Given the description of an element on the screen output the (x, y) to click on. 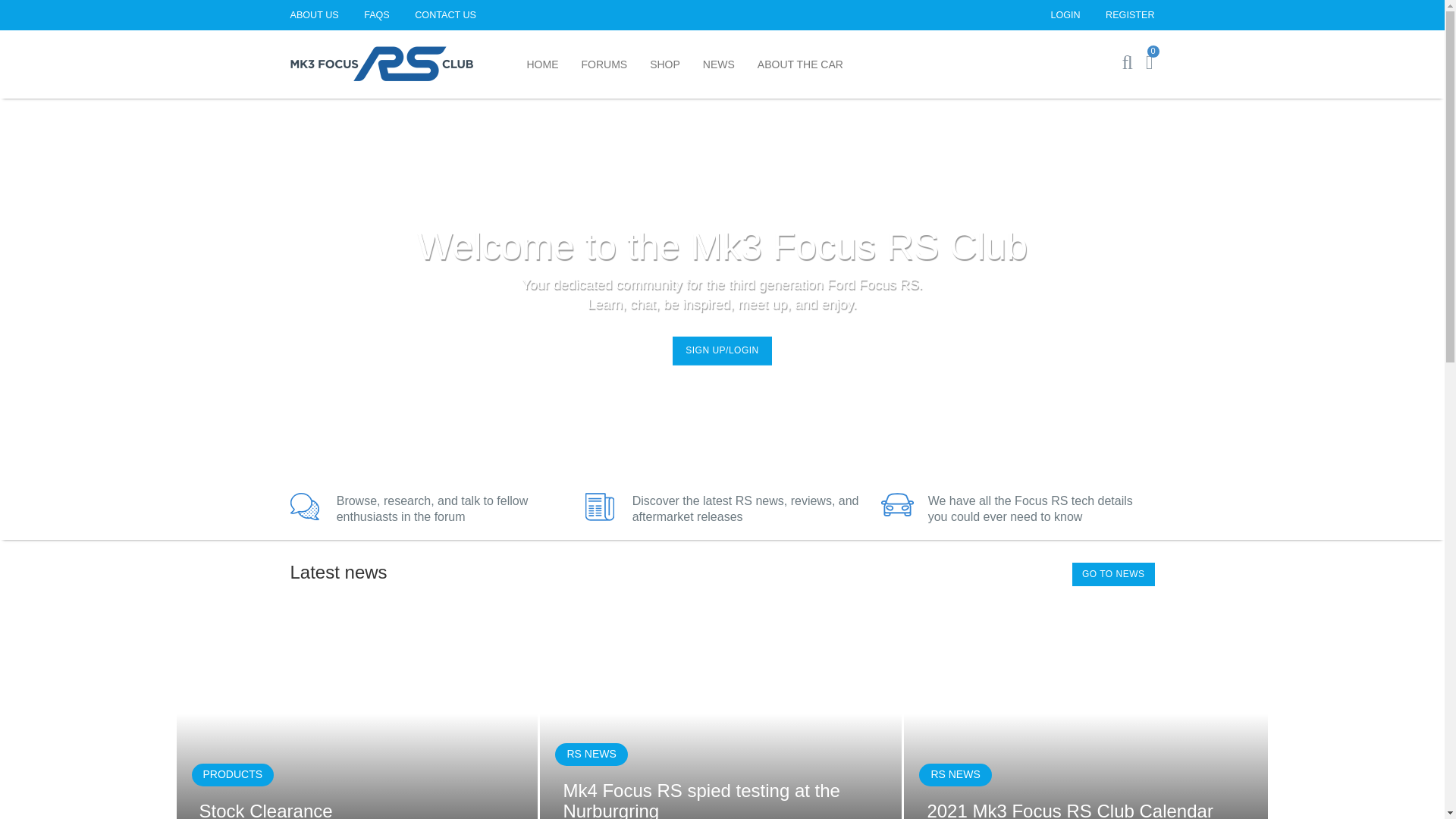
GO TO NEWS (1112, 574)
FORUMS (604, 64)
CONTACT US (445, 14)
ABOUT THE CAR (799, 64)
HOME (542, 64)
REGISTER (1129, 14)
NEWS (718, 64)
LOGIN (1075, 14)
FAQS (388, 14)
ABOUT US (325, 14)
